Given the description of an element on the screen output the (x, y) to click on. 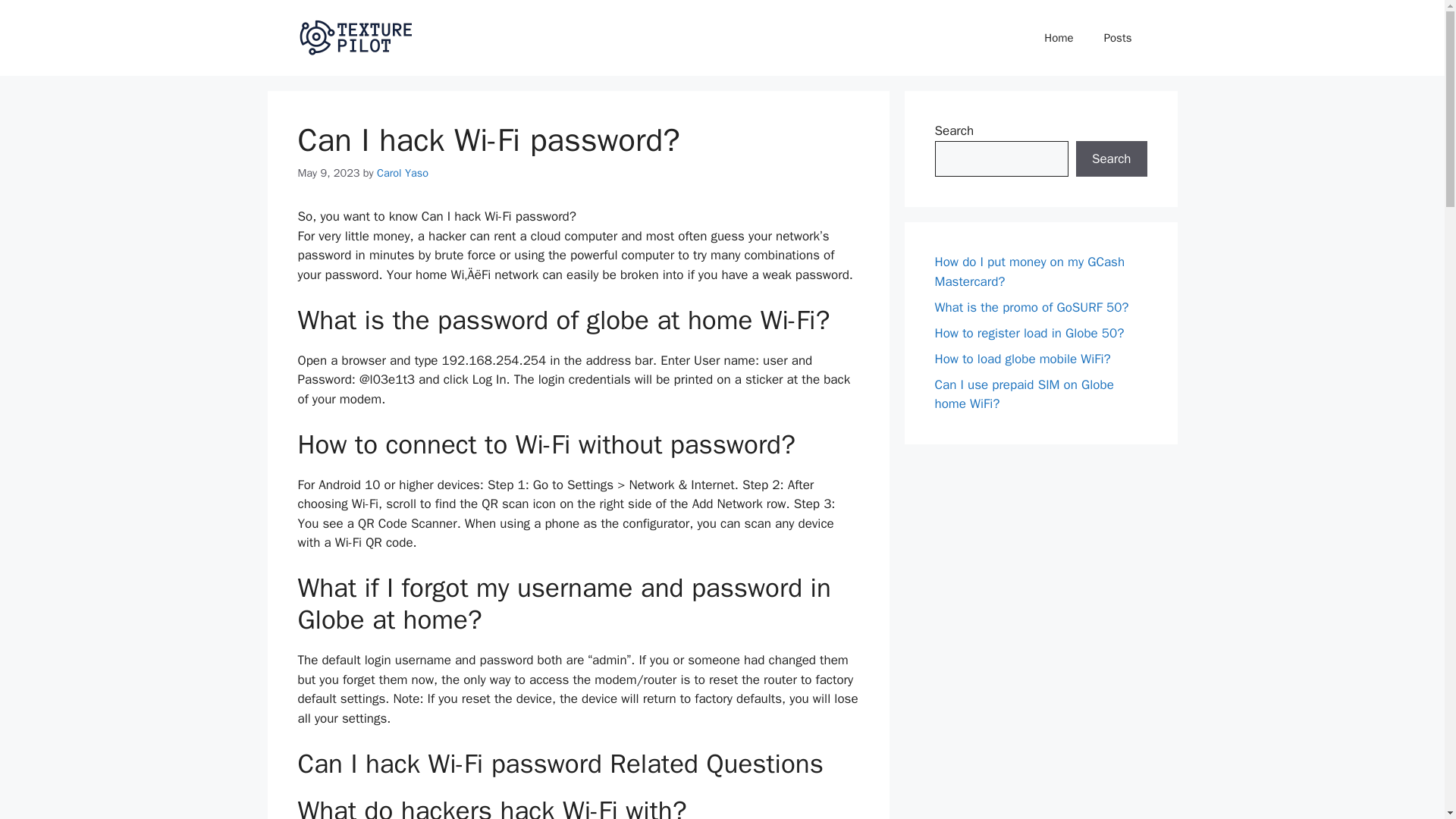
Carol Yaso (402, 172)
Search (1111, 158)
Posts (1118, 37)
View all posts by Carol Yaso (402, 172)
Can I use prepaid SIM on Globe home WiFi? (1023, 393)
What is the promo of GoSURF 50? (1031, 306)
How do I put money on my GCash Mastercard? (1029, 271)
How to load globe mobile WiFi? (1021, 358)
Home (1058, 37)
How to register load in Globe 50? (1029, 332)
